Given the description of an element on the screen output the (x, y) to click on. 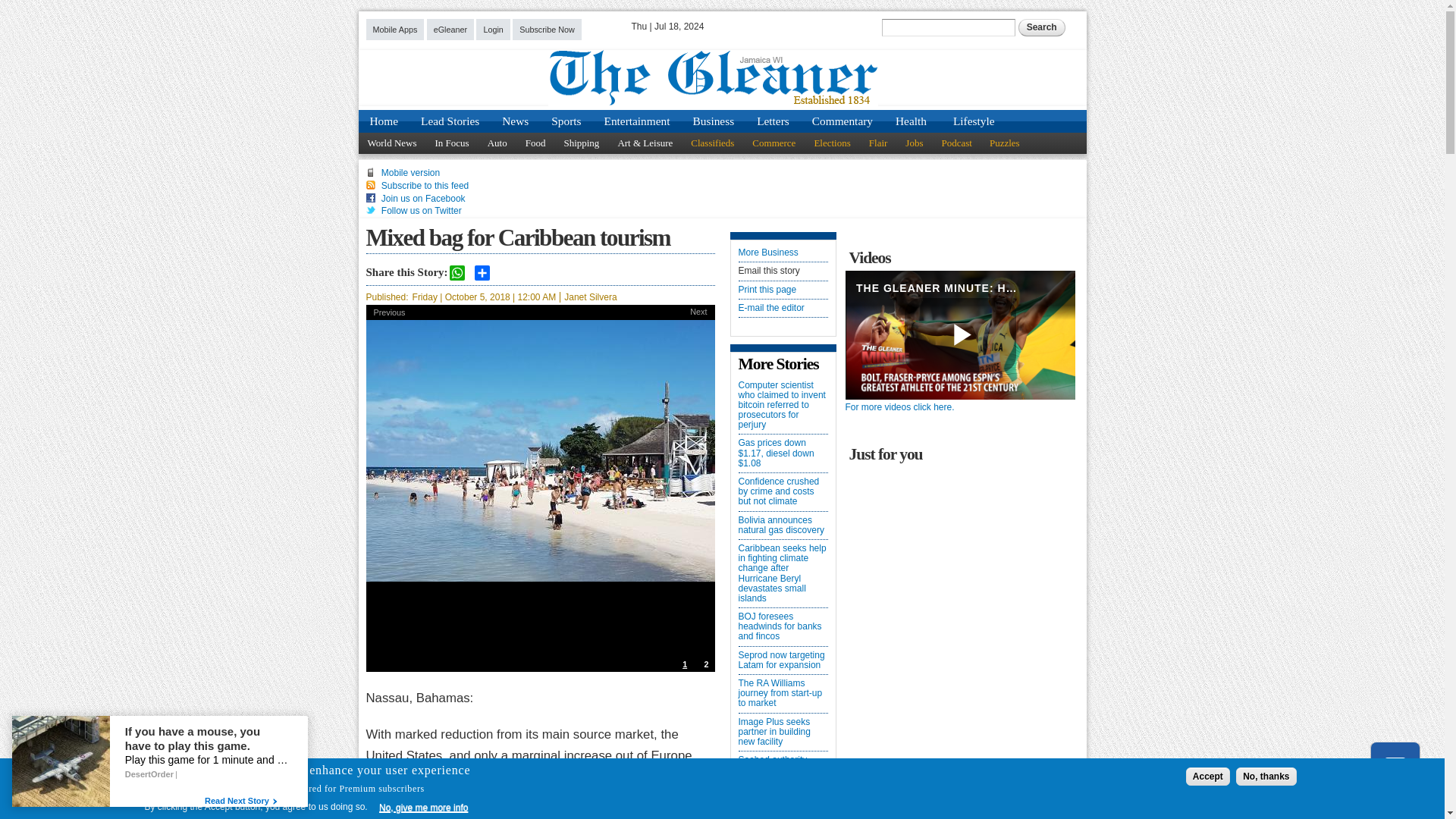
Mobile version (410, 172)
Shipping (581, 142)
Letters (772, 120)
Puzzles (1005, 142)
Subscribe to this feed (424, 185)
Home (383, 120)
Search (1041, 27)
Food (535, 142)
Follow us on Twitter (421, 210)
Flair (878, 142)
Lifestyle (973, 120)
Entertainment (636, 120)
Subscribe Now (546, 29)
Mobile Apps (394, 29)
World News (391, 142)
